Given the description of an element on the screen output the (x, y) to click on. 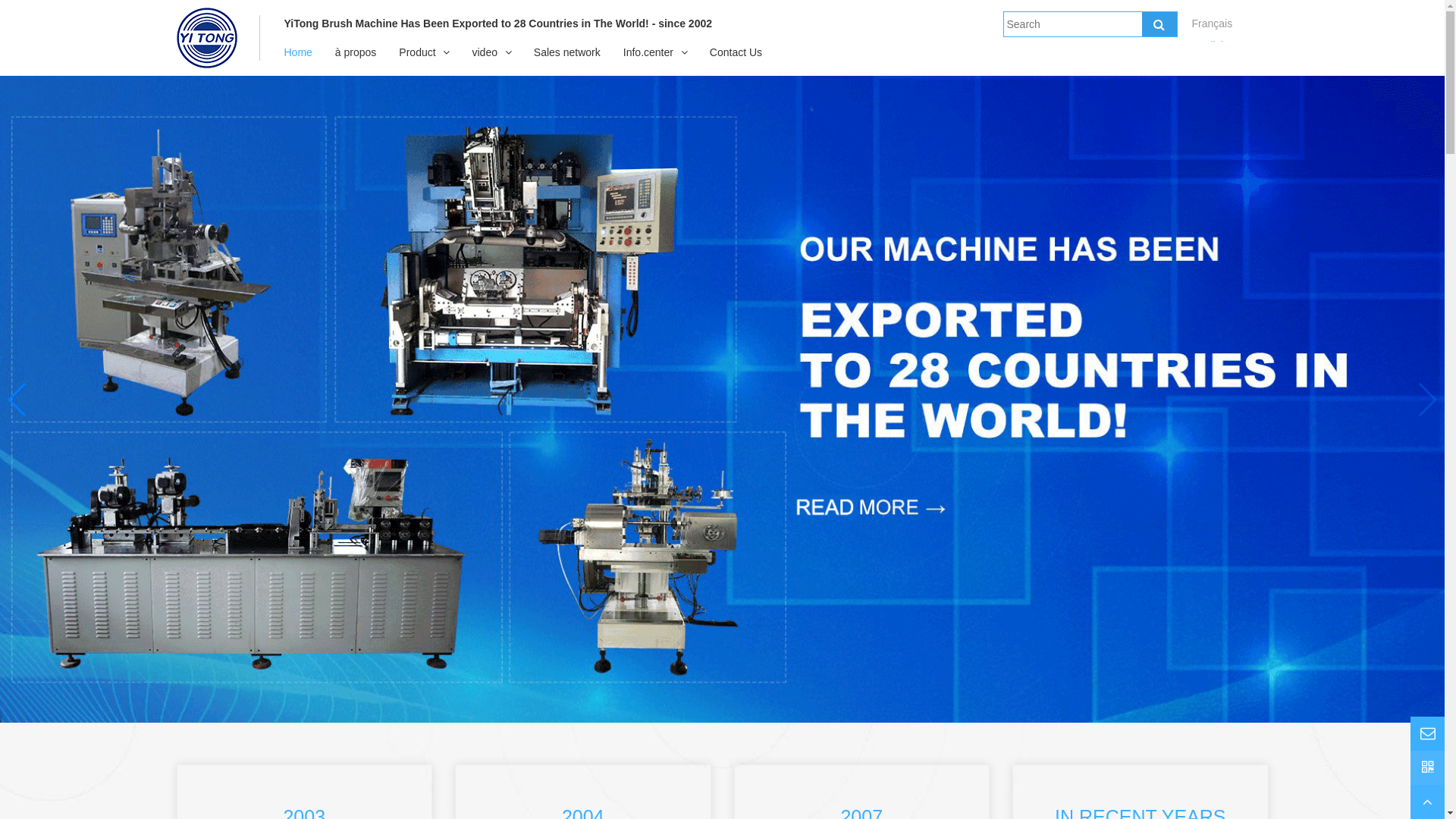
Sales network Element type: text (566, 52)
Info.center Element type: text (647, 52)
English Element type: text (1209, 45)
video Element type: text (484, 52)
Contact Us Element type: text (735, 52)
Product Element type: text (416, 52)
Home Element type: text (298, 52)
